Given the description of an element on the screen output the (x, y) to click on. 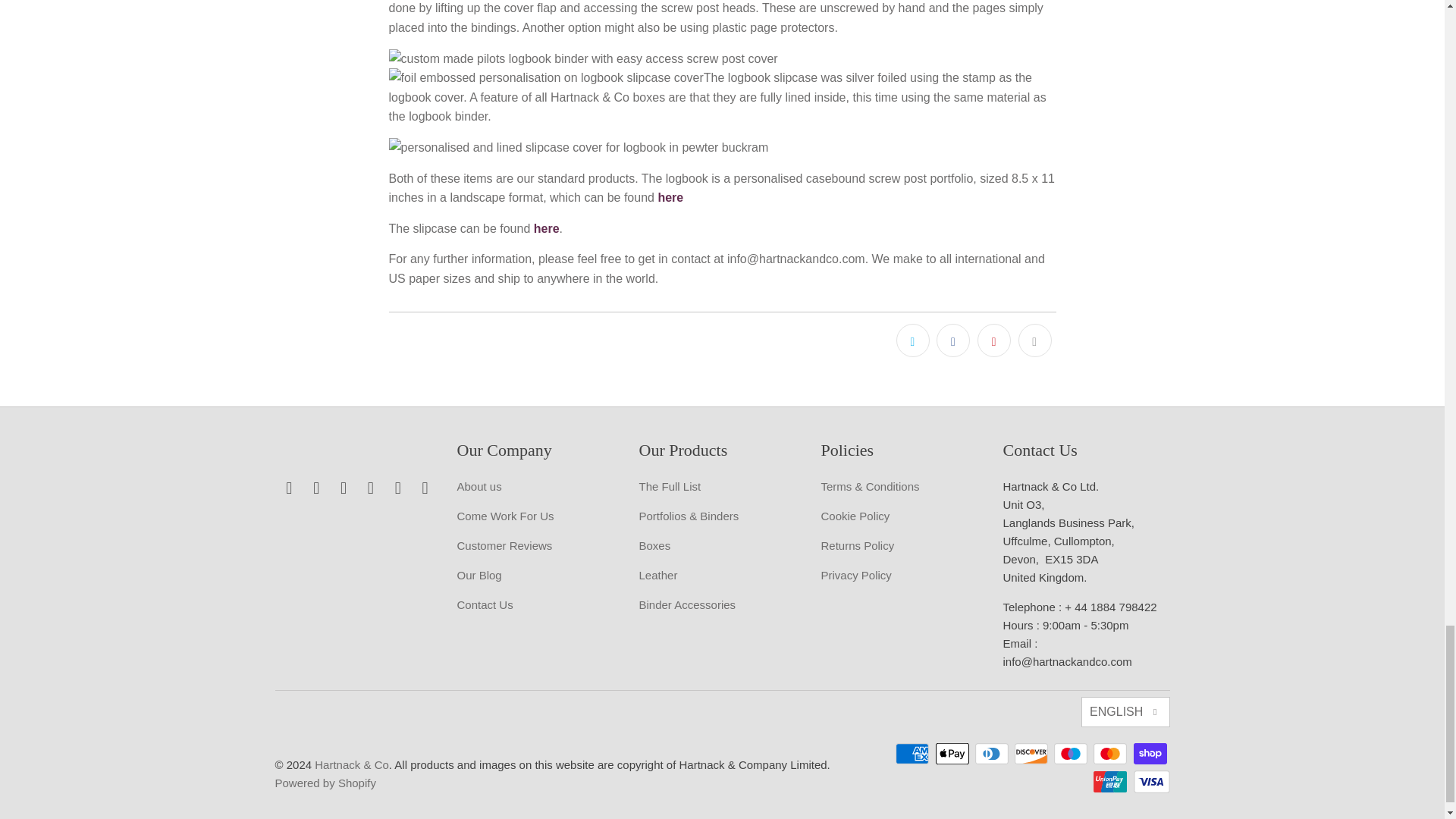
Discover (1032, 753)
personalised casebound binder for pilot logbook (670, 196)
Visa (1150, 781)
Shop Pay (1150, 753)
Union Pay (1111, 781)
Diners Club (993, 753)
Apple Pay (954, 753)
Share this on Twitter (913, 340)
American Express (913, 753)
Maestro (1072, 753)
